Given the description of an element on the screen output the (x, y) to click on. 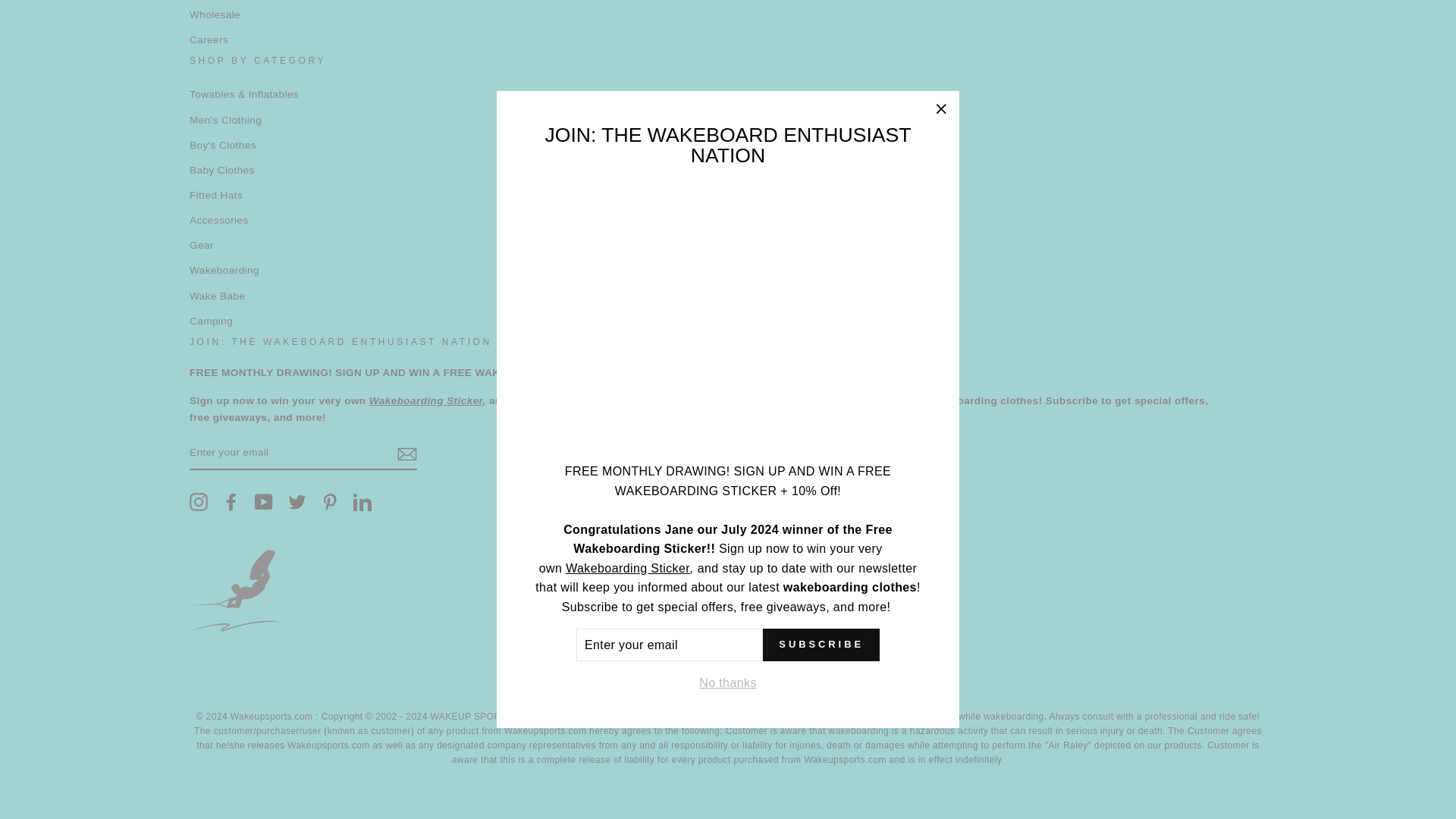
Google Pay (746, 683)
Diners Club (631, 683)
Discover (670, 683)
Apple Pay (592, 683)
Meta Pay (708, 683)
Mastercard (785, 683)
American Express (554, 683)
PayPal (823, 683)
Amazon (514, 683)
